Given the description of an element on the screen output the (x, y) to click on. 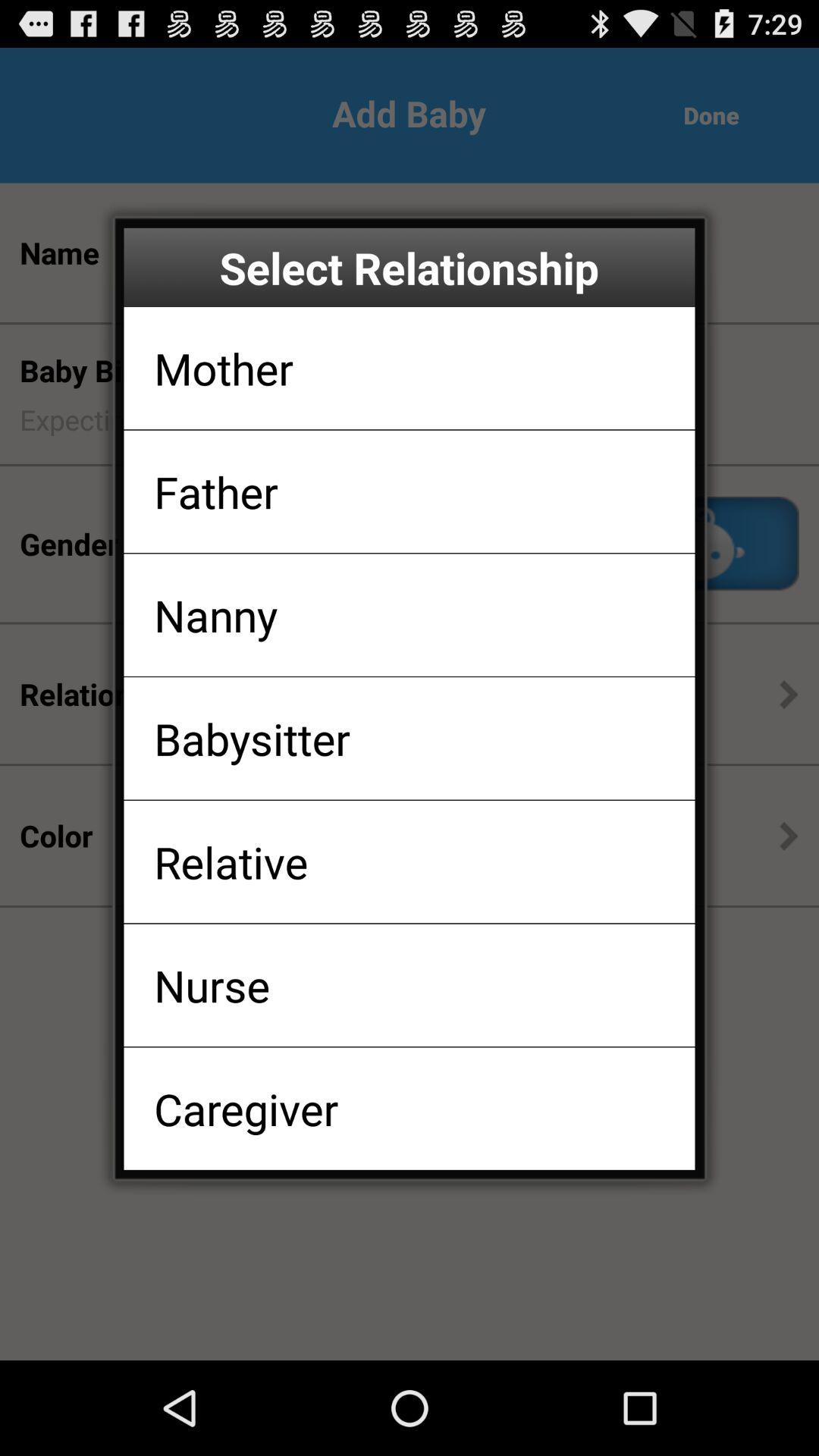
click the app above father (223, 367)
